Given the description of an element on the screen output the (x, y) to click on. 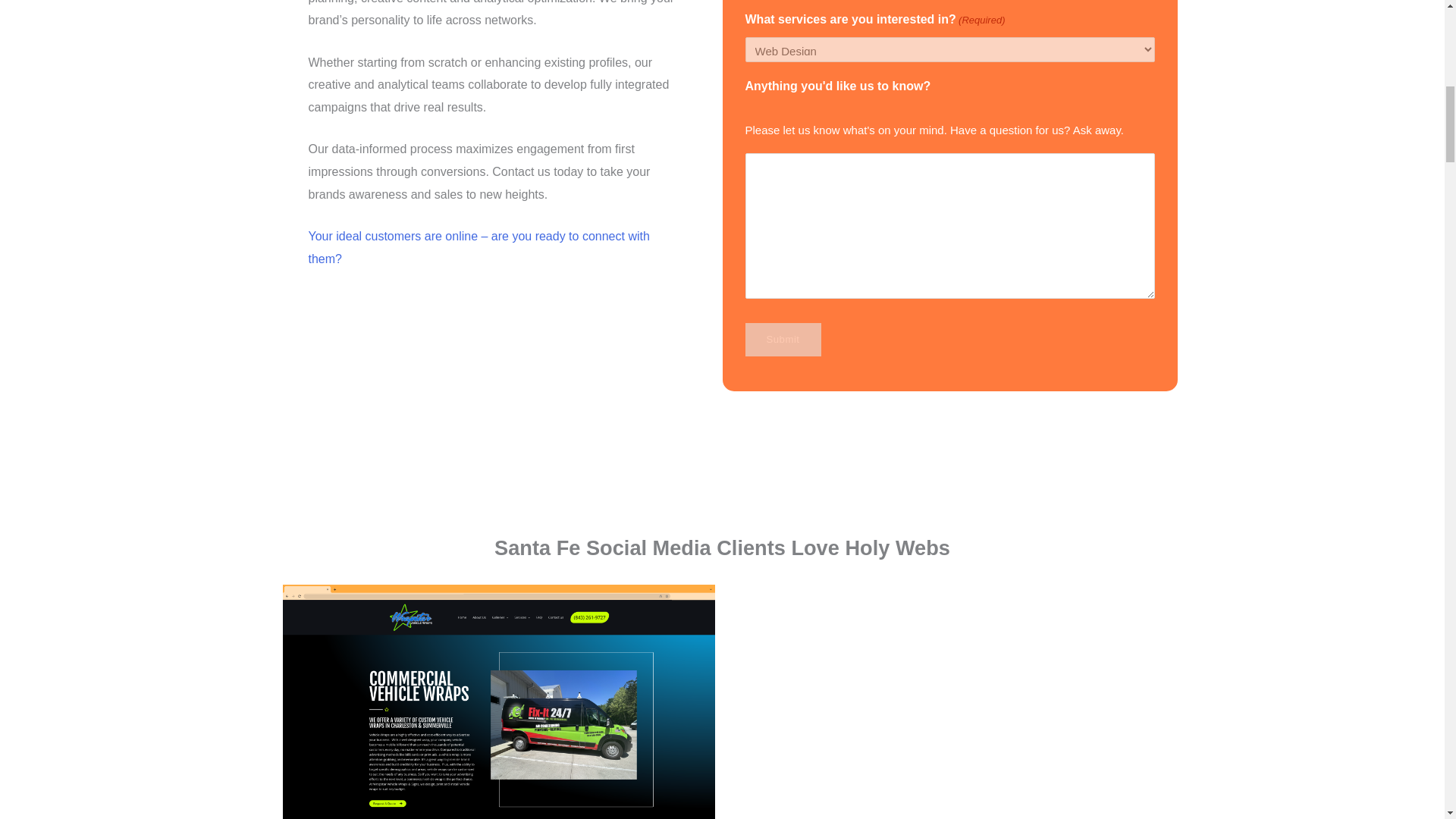
Submit (782, 339)
Submit (782, 339)
